Given the description of an element on the screen output the (x, y) to click on. 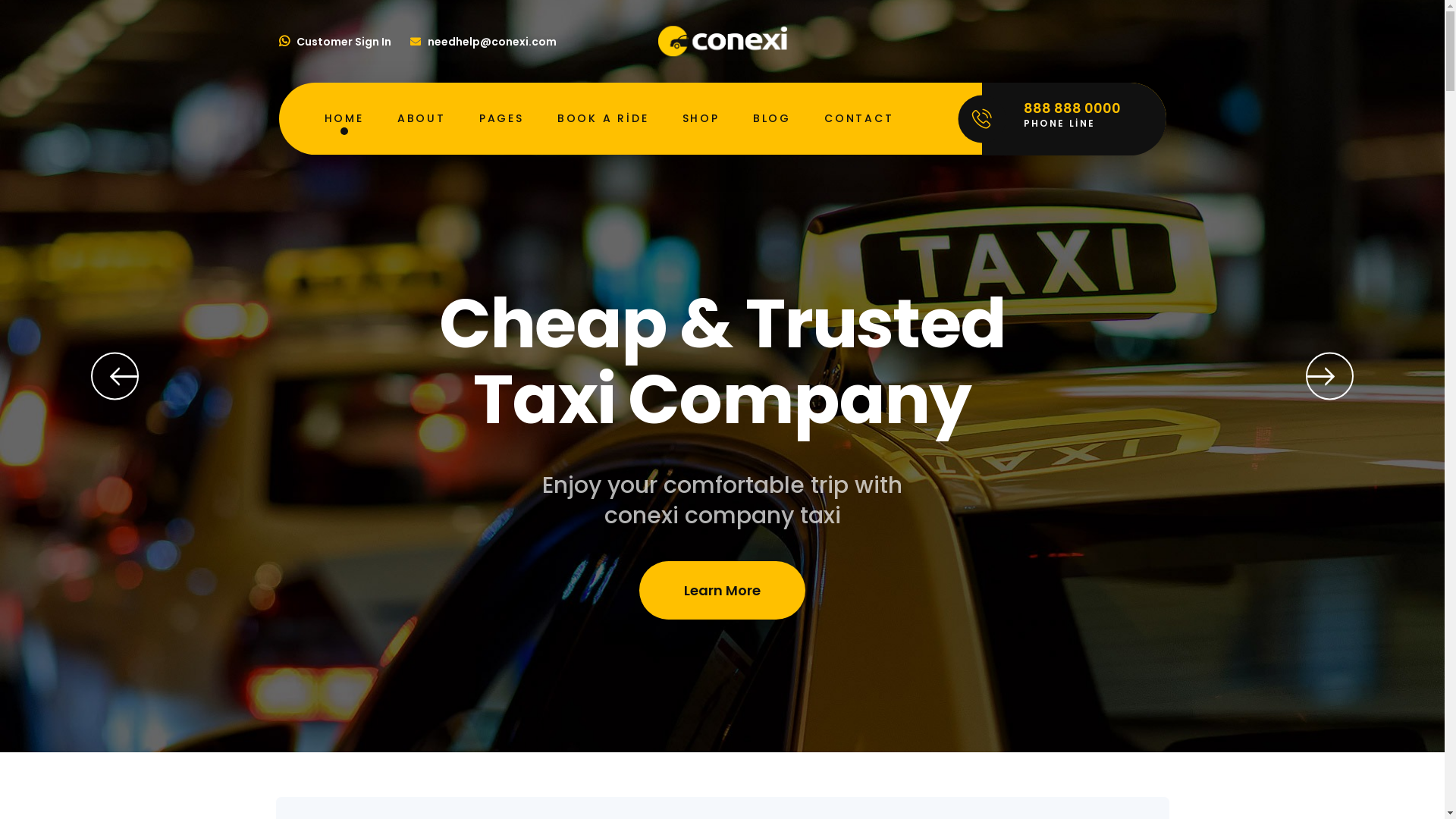
SHOP Element type: text (700, 117)
BOOK A RIDE Element type: text (603, 117)
888 888 0000
PHONE LINE Element type: text (1073, 118)
Customer Sign In Element type: text (335, 41)
My Blog Element type: hover (722, 40)
CONTACT Element type: text (859, 117)
ABOUT Element type: text (421, 117)
HOME Element type: text (344, 117)
PAGES Element type: text (501, 117)
BLOG Element type: text (771, 117)
needhelp@conexi.com Element type: text (482, 41)
